Given the description of an element on the screen output the (x, y) to click on. 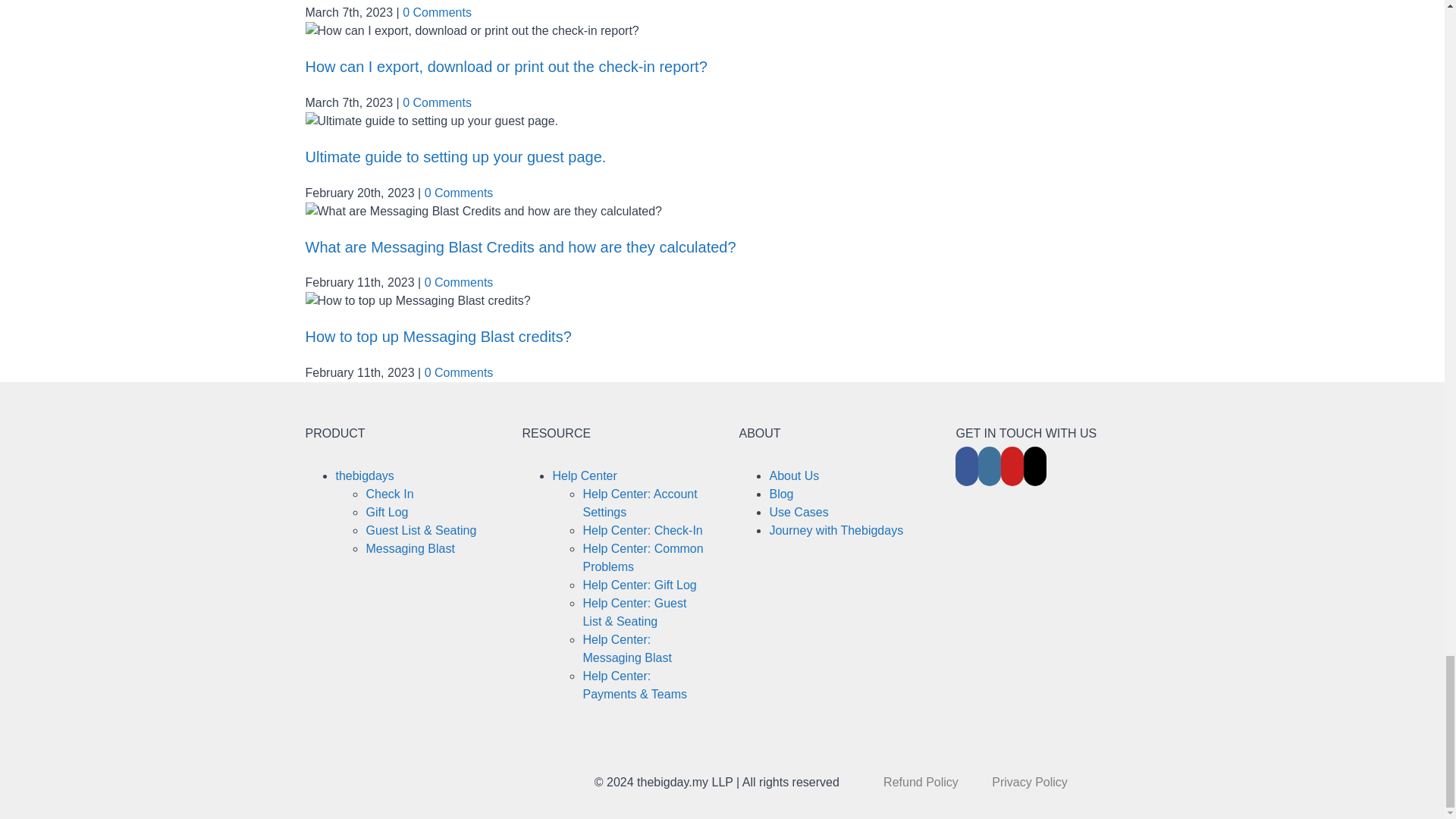
How can I export, download or print out the check-in report? (505, 66)
How to top up Messaging Blast credits? (437, 336)
Ultimate guide to setting up your guest page. (454, 156)
